Given the description of an element on the screen output the (x, y) to click on. 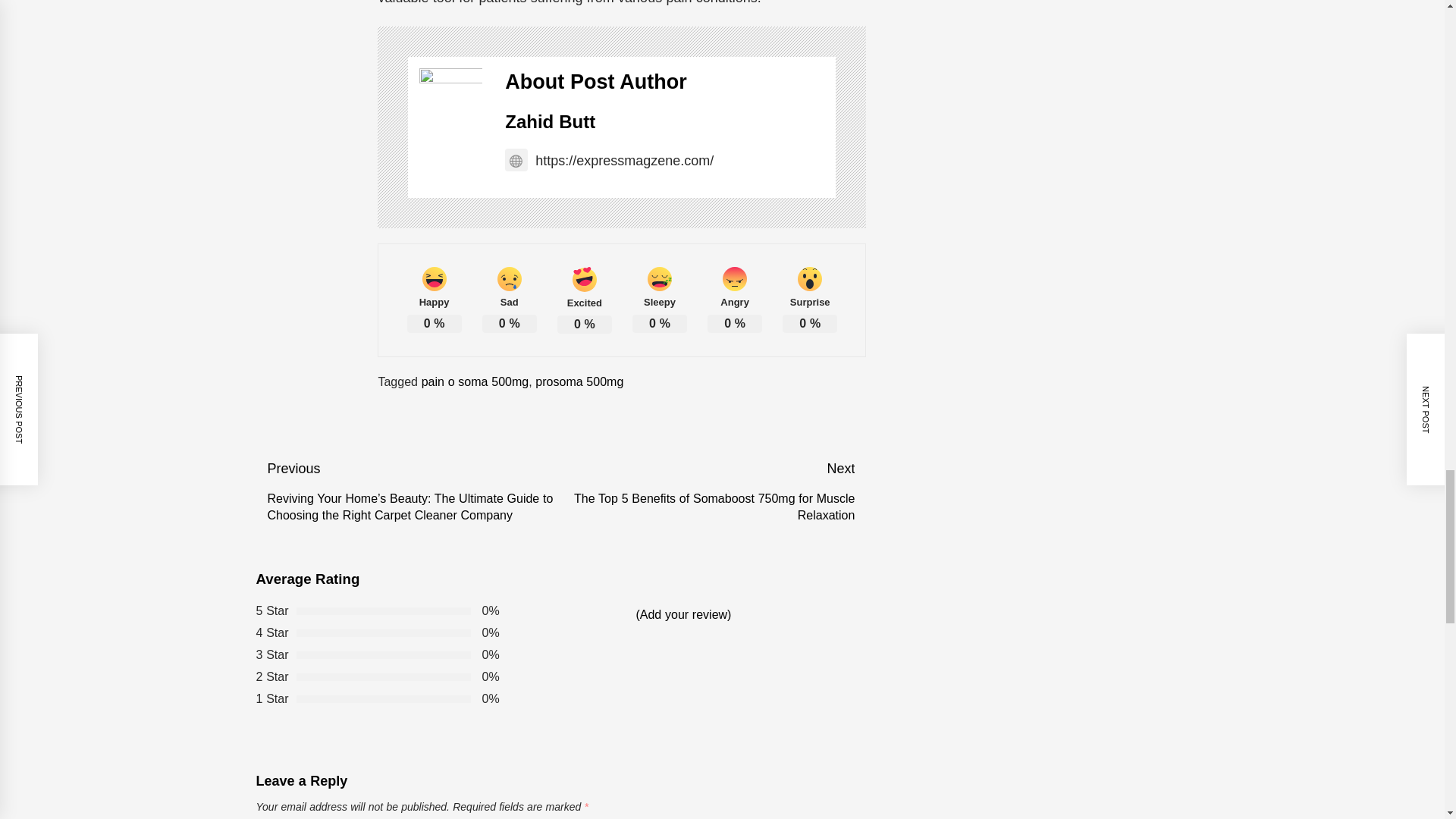
Zahid Butt (550, 121)
pain o soma 500mg (475, 381)
prosoma 500mg (579, 381)
